Given the description of an element on the screen output the (x, y) to click on. 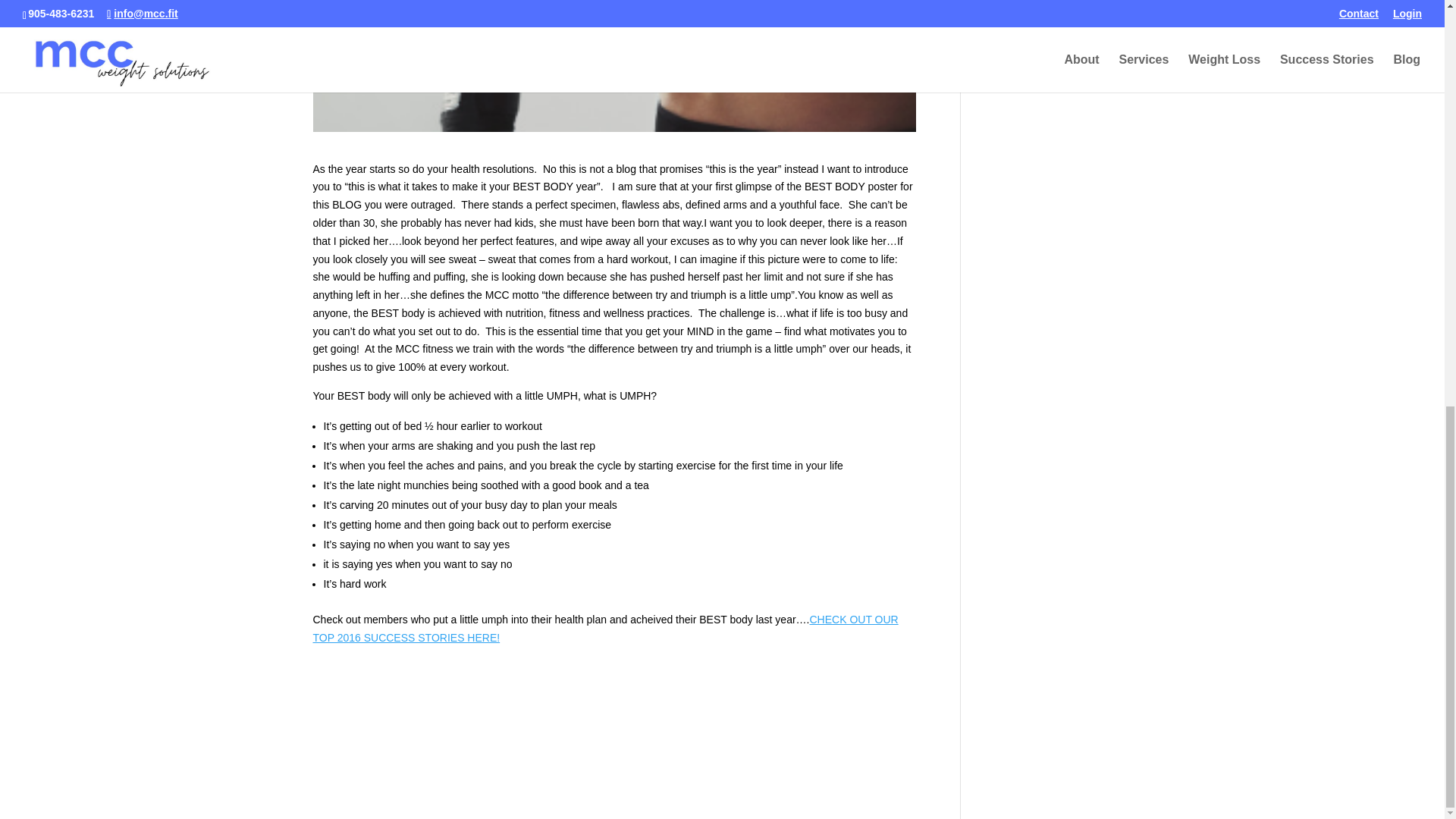
CHECK OUT OUR TOP 2016 SUCCESS STORIES HERE! (605, 628)
